Given the description of an element on the screen output the (x, y) to click on. 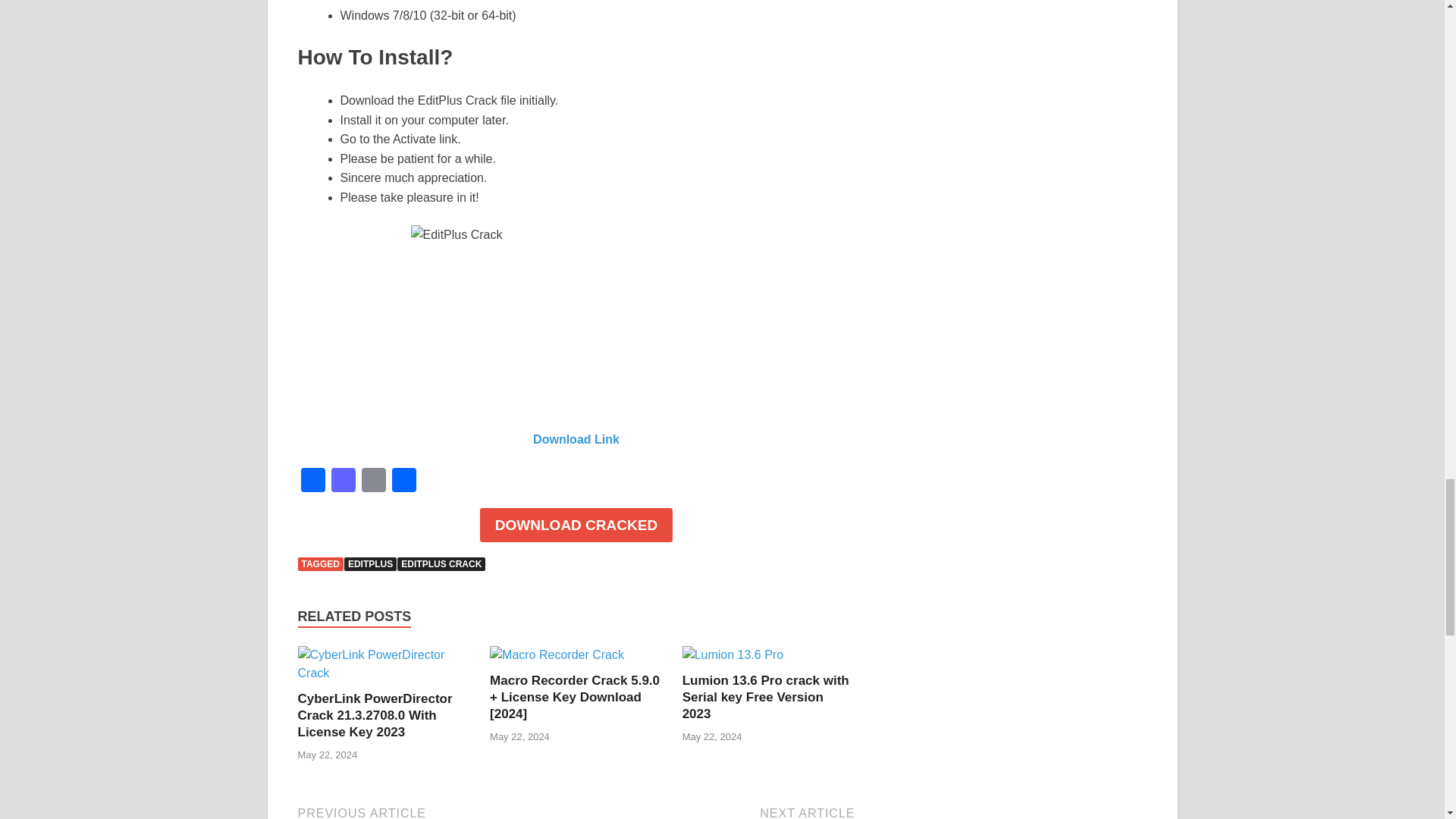
EditPlus Crack (576, 318)
Email (373, 481)
Download Link (576, 439)
Lumion 13.6 Pro crack with Serial key Free Version 2023 (765, 697)
DOWNLOAD CRACKED (576, 525)
Email (373, 481)
Mastodon (342, 481)
Share (403, 481)
Lumion 13.6 Pro crack with Serial key Free Version 2023 (765, 697)
DOWNLOAD CRACKED (576, 524)
Facebook (312, 481)
Facebook (312, 481)
